Given the description of an element on the screen output the (x, y) to click on. 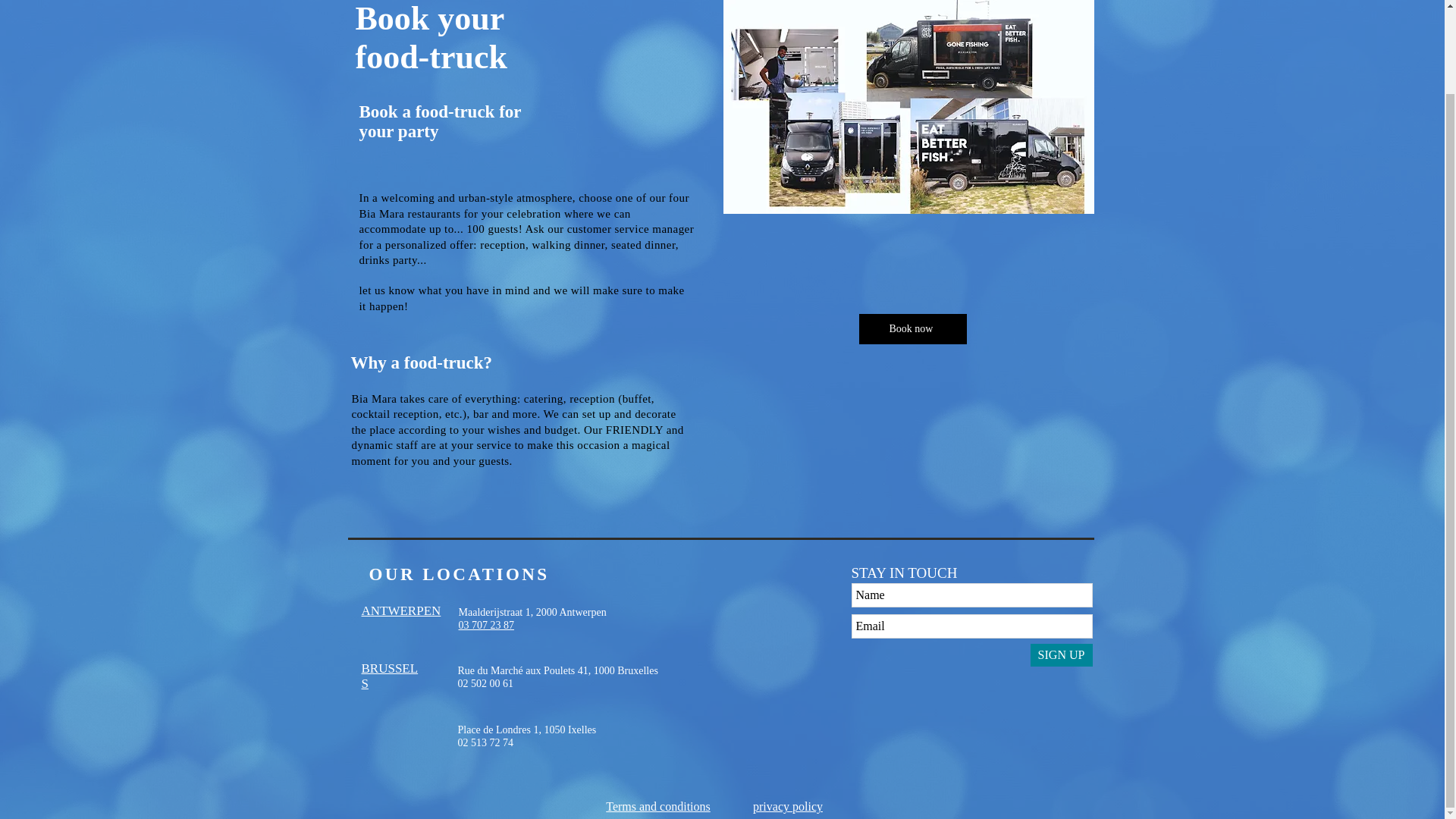
privacy policy (787, 806)
03 707 23 87 (485, 624)
SIGN UP (1060, 654)
ANTWERPEN (527, 735)
Terms and conditions (401, 610)
BRUSSELS (657, 806)
Book now (389, 675)
